Given the description of an element on the screen output the (x, y) to click on. 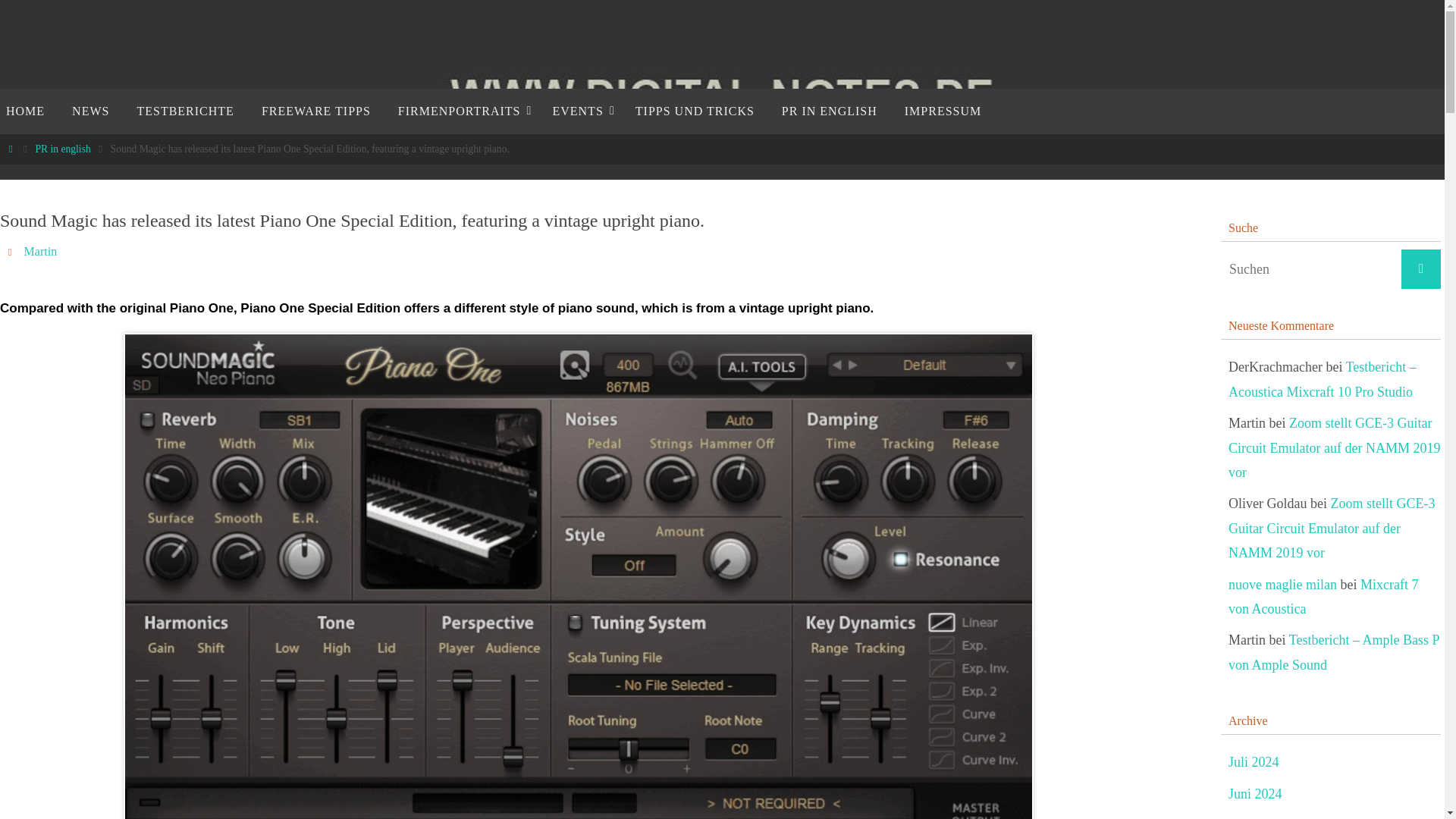
Martin (41, 251)
FIRMENPORTRAITS (461, 111)
Mai 2024 (1254, 818)
Suchen (1420, 269)
EVENTS (579, 111)
IMPRESSUM (942, 111)
HOME (29, 111)
nuove maglie milan (1282, 584)
Juli 2024 (1253, 762)
Home (10, 148)
TESTBERICHTE (184, 111)
www.digital-notes.de (722, 99)
NEWS (90, 111)
